Given the description of an element on the screen output the (x, y) to click on. 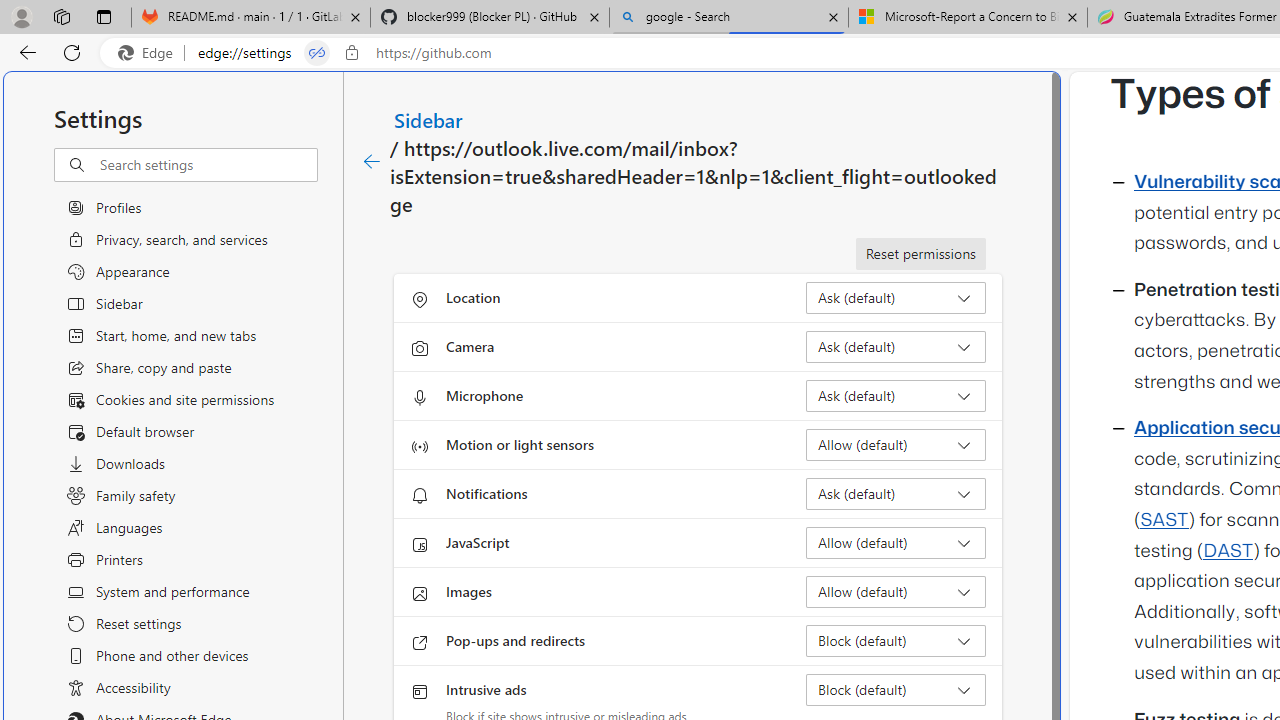
Motion or light sensors Allow (default) (895, 444)
Search settings (207, 165)
Images Allow (default) (895, 591)
Camera Ask (default) (895, 346)
Sidebar (429, 119)
SAST (1164, 520)
Edge (150, 53)
Pop-ups and redirects Block (default) (895, 640)
Class: c01182 (371, 161)
Location Ask (default) (895, 297)
